Given the description of an element on the screen output the (x, y) to click on. 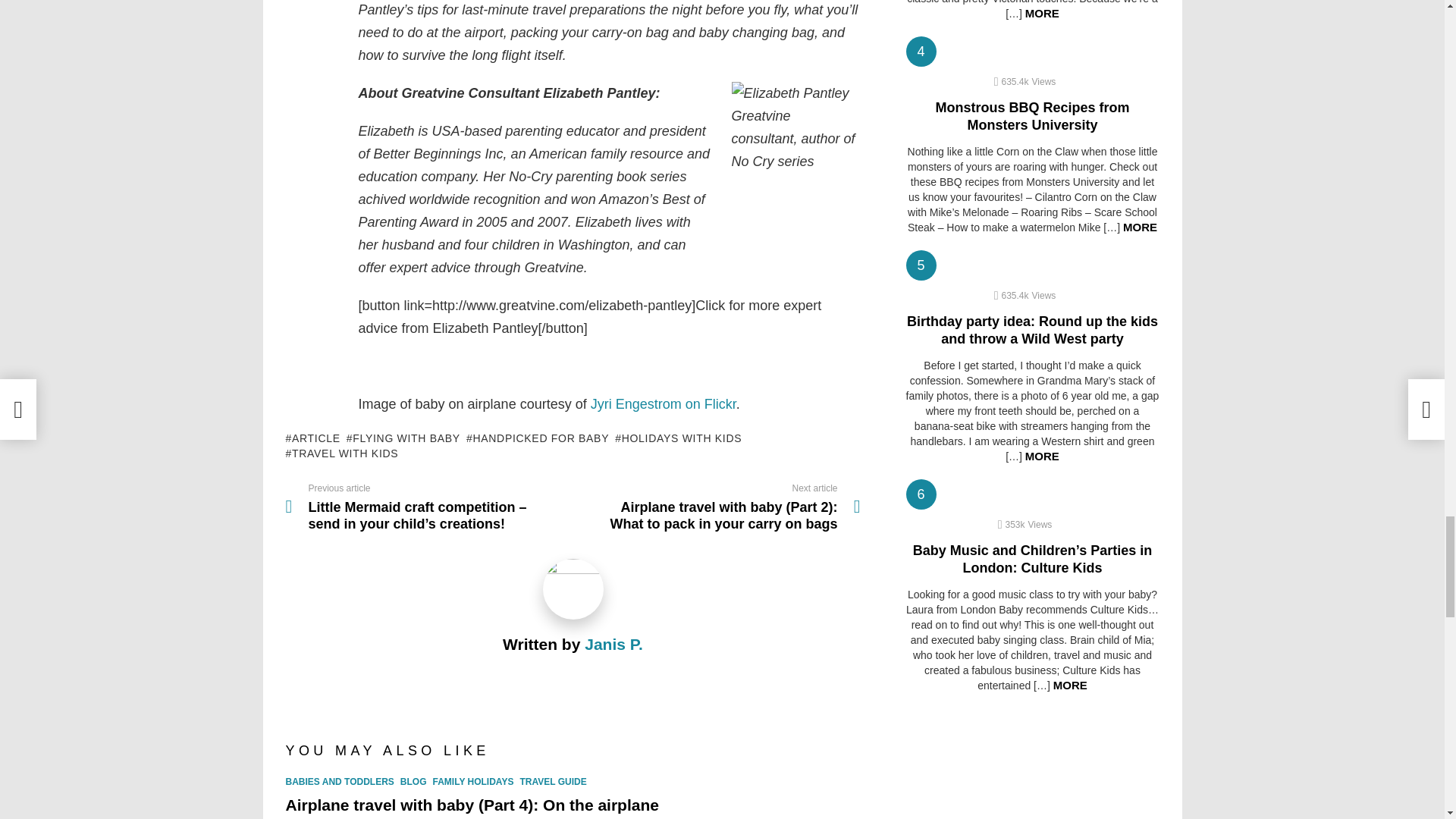
TRAVEL WITH KIDS (341, 453)
HOLIDAYS WITH KIDS (677, 437)
FLYING WITH BABY (403, 437)
ARTICLE (312, 437)
Jyri Engestrom on Flickr (663, 403)
HANDPICKED FOR BABY (536, 437)
